Given the description of an element on the screen output the (x, y) to click on. 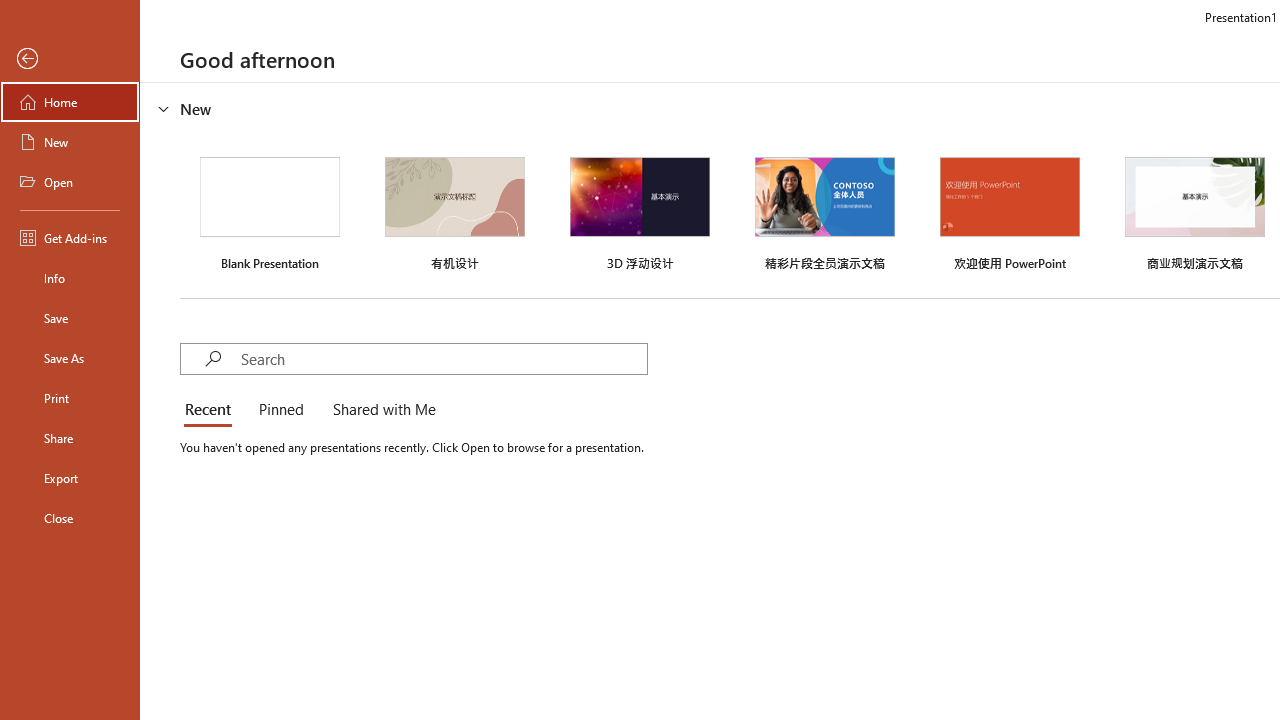
Open (69, 182)
Save As (69, 357)
Close (69, 517)
Print (69, 398)
Shared with Me (379, 410)
Back (69, 59)
Export (69, 477)
Info (69, 277)
Pinned (280, 410)
New (69, 141)
